Given the description of an element on the screen output the (x, y) to click on. 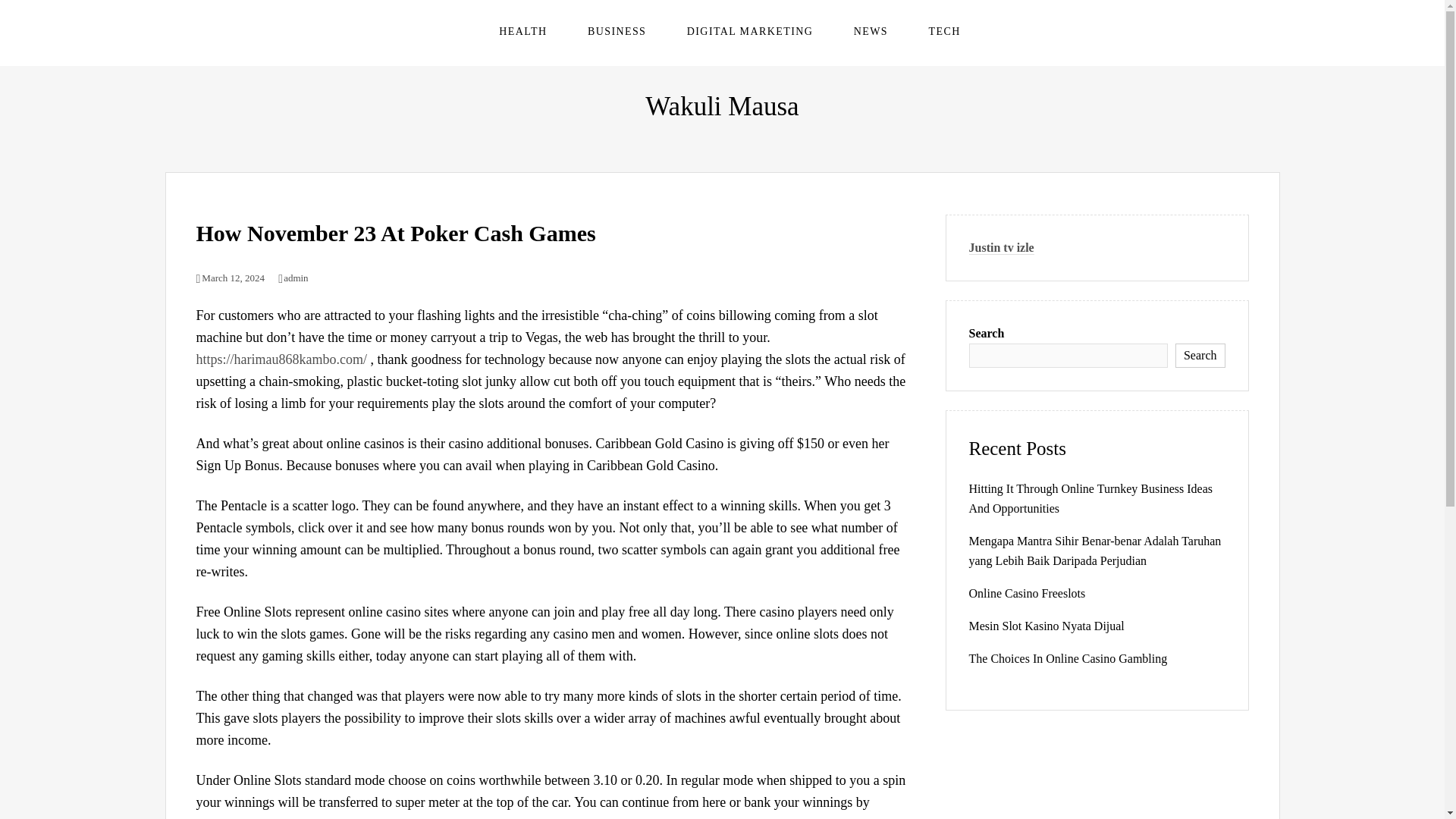
admin (292, 277)
Justin tv izle (1001, 247)
DIGITAL MARKETING (749, 31)
Search (1199, 355)
TECH (943, 31)
Mesin Slot Kasino Nyata Dijual (1046, 625)
7:58 am (229, 277)
BUSINESS (617, 31)
NEWS (870, 31)
View all posts by admin (292, 277)
March 12, 2024 (229, 277)
Wakuli Mausa (721, 106)
Online Casino Freeslots (1027, 593)
